Given the description of an element on the screen output the (x, y) to click on. 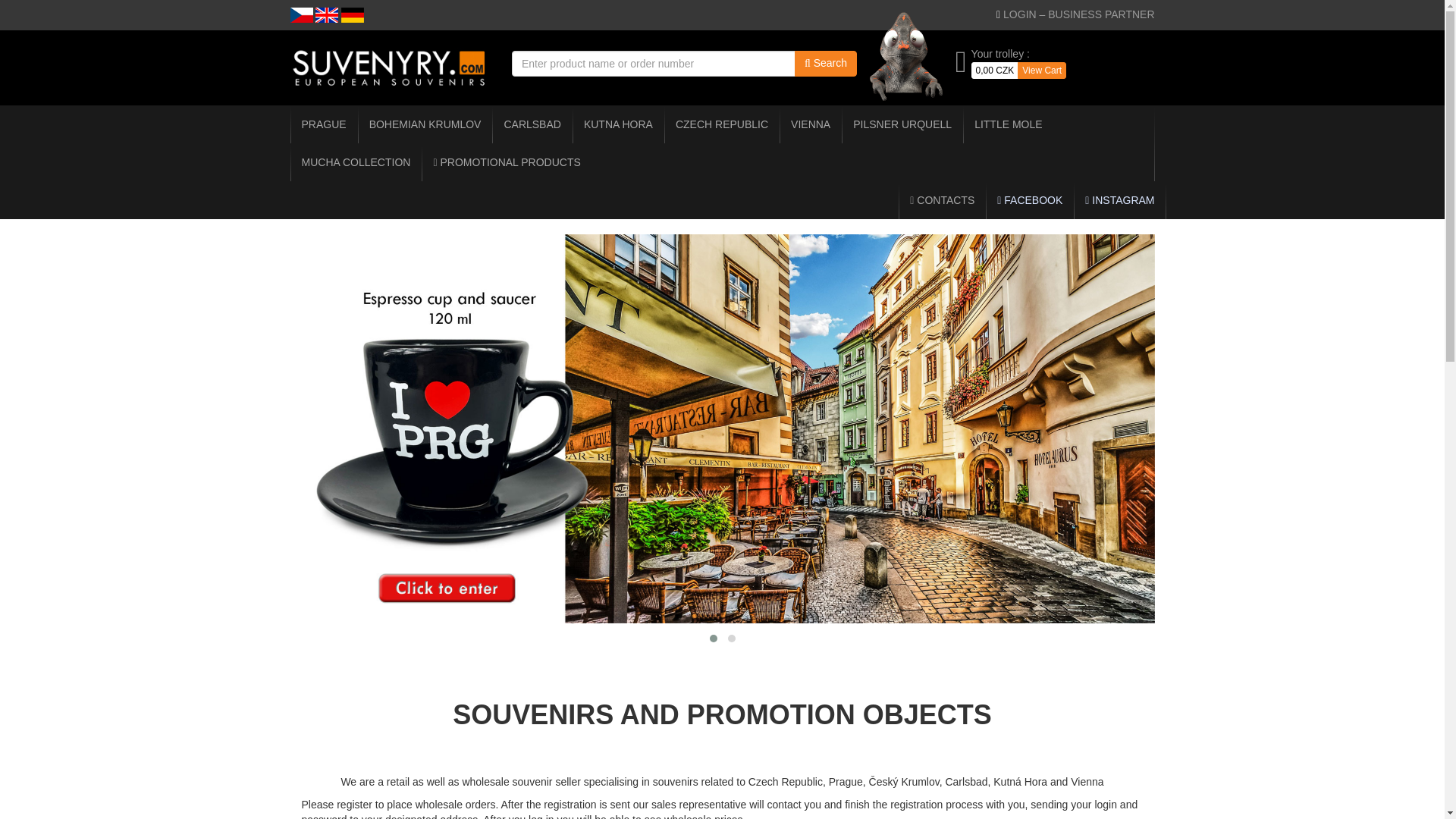
MUCHA COLLECTION (355, 161)
View Cart (1041, 70)
VIENNA (809, 124)
Search (825, 63)
PROMOTIONAL PRODUCTS (506, 161)
FACEBOOK (1029, 199)
CZECH REPUBLIC (720, 124)
PRAGUE (322, 124)
Your trolley : (1000, 53)
KUTNA HORA (617, 124)
CARLSBAD (532, 124)
LITTLE MOLE (1007, 124)
PILSNER URQUELL (901, 124)
INSTAGRAM (1120, 199)
CONTACTS (941, 199)
